Given the description of an element on the screen output the (x, y) to click on. 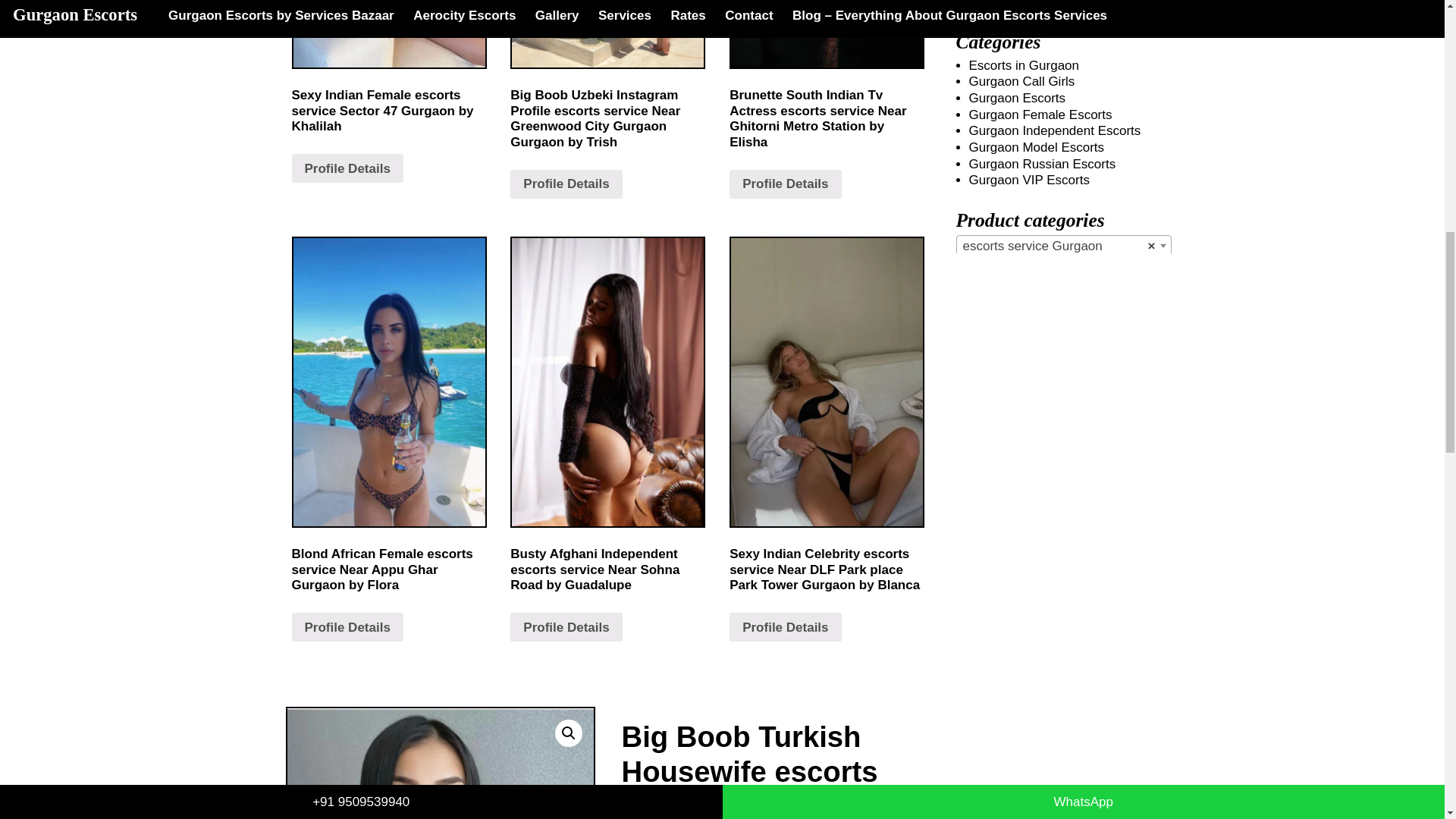
Profile Details (785, 626)
ona (440, 762)
Profile Details (347, 626)
Profile Details (347, 167)
Profile Details (566, 184)
Profile Details (785, 184)
Profile Details (566, 626)
escorts service Gurgaon (1063, 246)
